Given the description of an element on the screen output the (x, y) to click on. 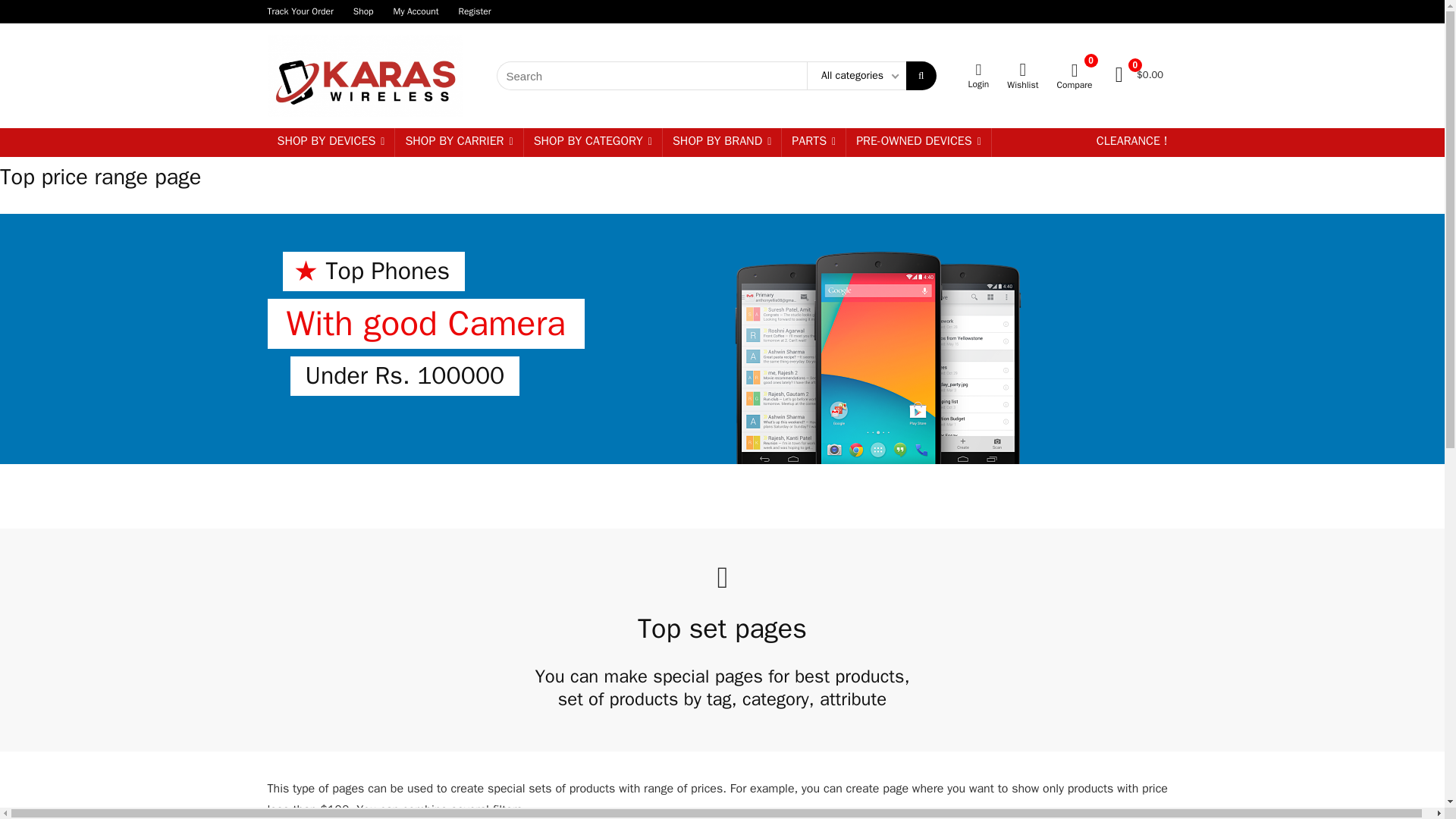
My Account (416, 10)
Shop (363, 10)
Register (475, 10)
Track Your Order (299, 10)
SHOP BY DEVICES (330, 142)
moborg (877, 356)
